Given the description of an element on the screen output the (x, y) to click on. 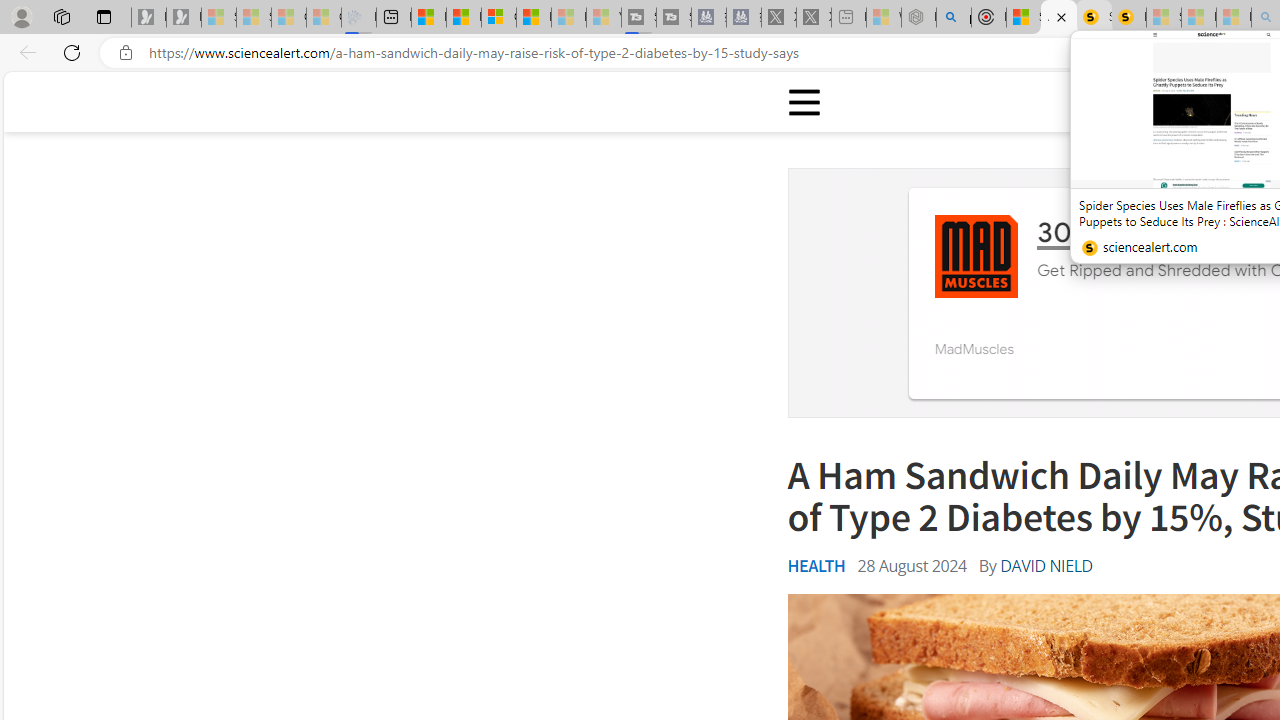
Overview (498, 17)
Streaming Coverage | T3 - Sleeping (639, 17)
poe - Search (954, 17)
Microsoft Start - Sleeping (568, 17)
DAVID NIELD (1046, 565)
Michelle Starr, Senior Journalist at ScienceAlert (1128, 17)
Class: sciencealert-menu-desktop-svg  (803, 102)
